Given the description of an element on the screen output the (x, y) to click on. 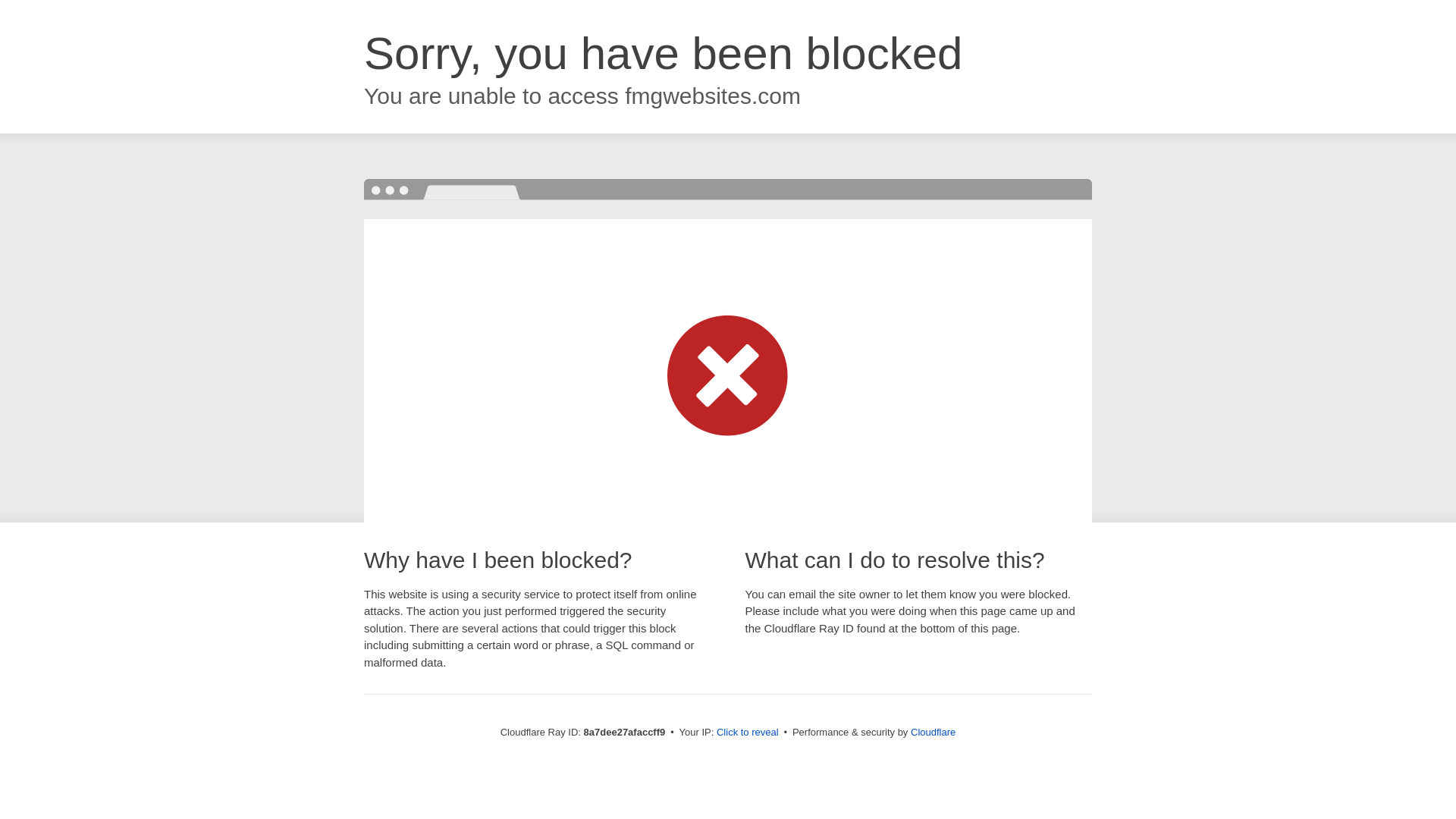
Click to reveal (747, 732)
Cloudflare (933, 731)
